Given the description of an element on the screen output the (x, y) to click on. 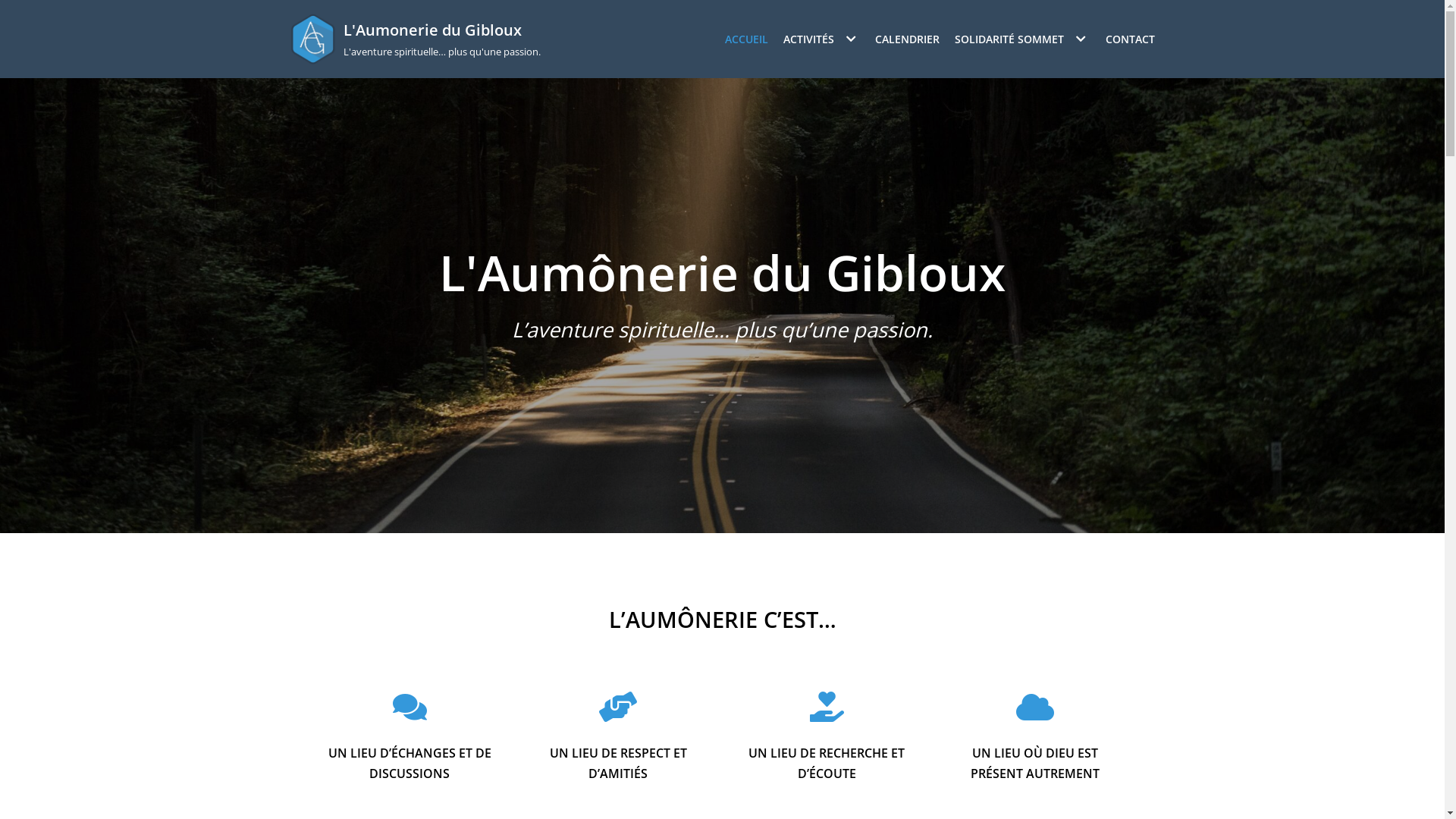
Skip to content Element type: text (15, 7)
CONTACT Element type: text (1129, 38)
ACCUEIL Element type: text (746, 38)
CALENDRIER Element type: text (907, 38)
